Given the description of an element on the screen output the (x, y) to click on. 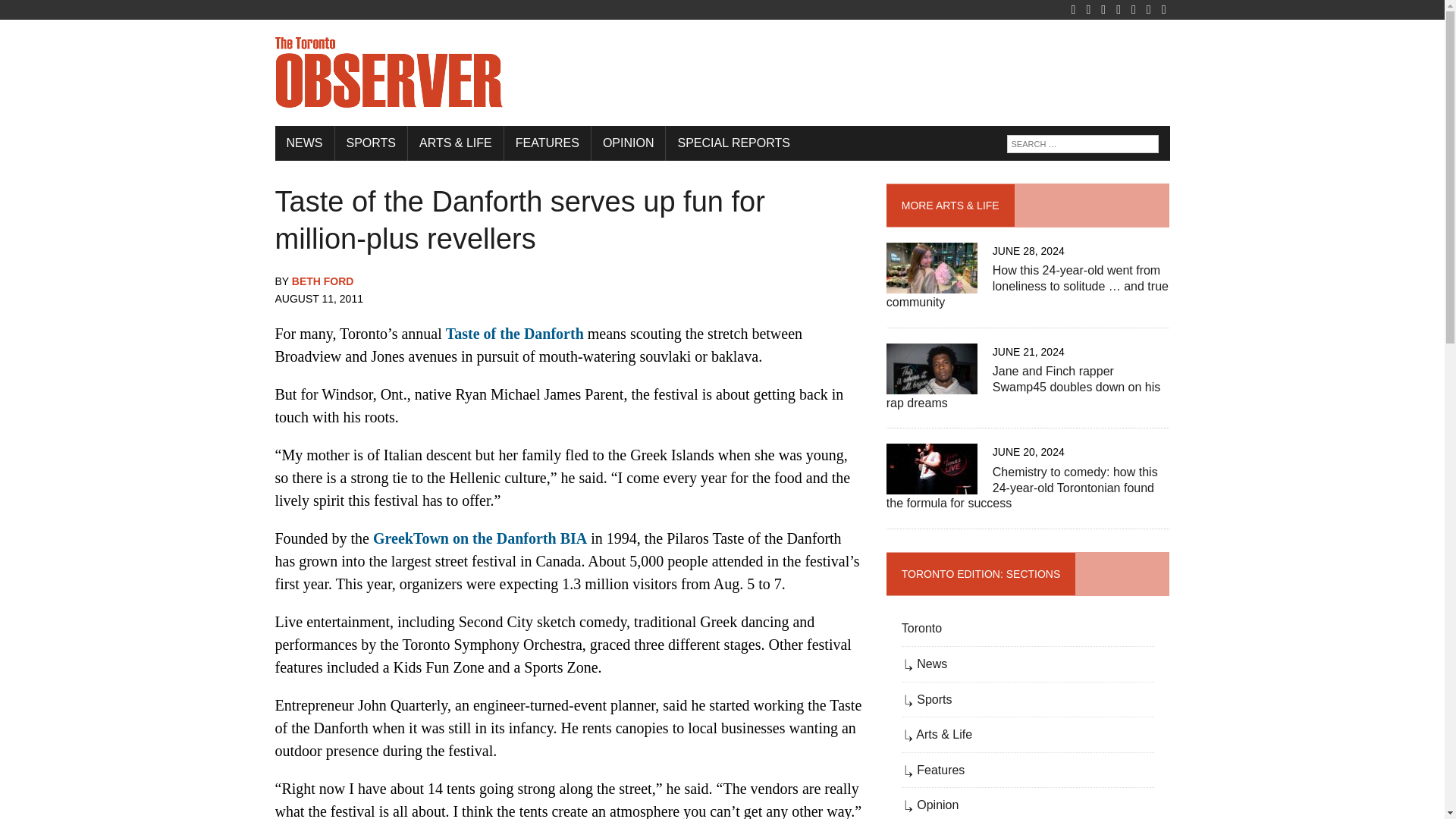
Beth Ford (322, 281)
Jane and Finch rapper Swamp45 doubles down on his rap dreams (1023, 386)
The Toronto Observer (722, 72)
Jane and Finch rapper Swamp45 doubles down on his rap dreams (931, 383)
